Given the description of an element on the screen output the (x, y) to click on. 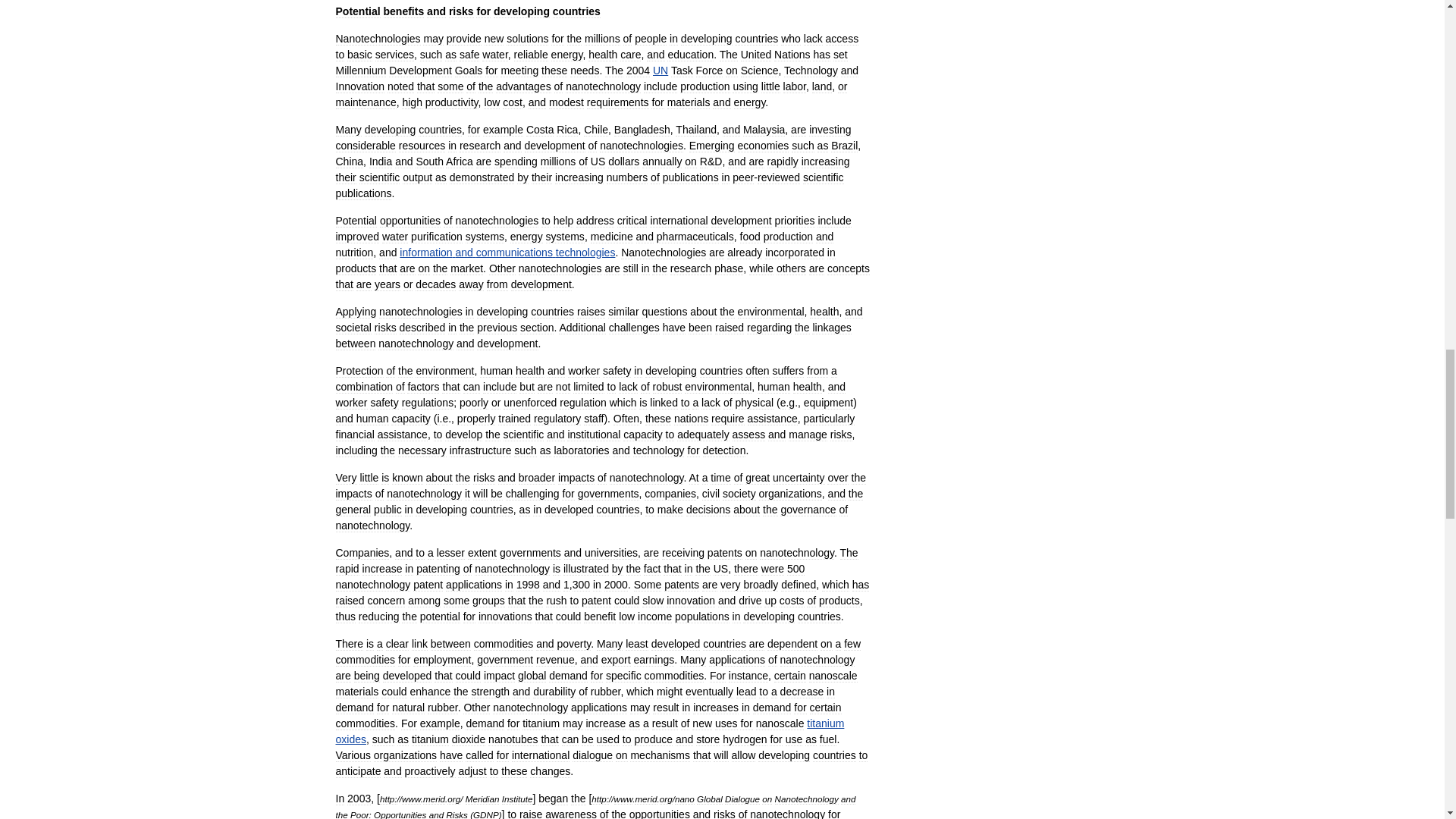
titanium oxides (589, 731)
UN (660, 70)
information and communications technologies (506, 252)
